Given the description of an element on the screen output the (x, y) to click on. 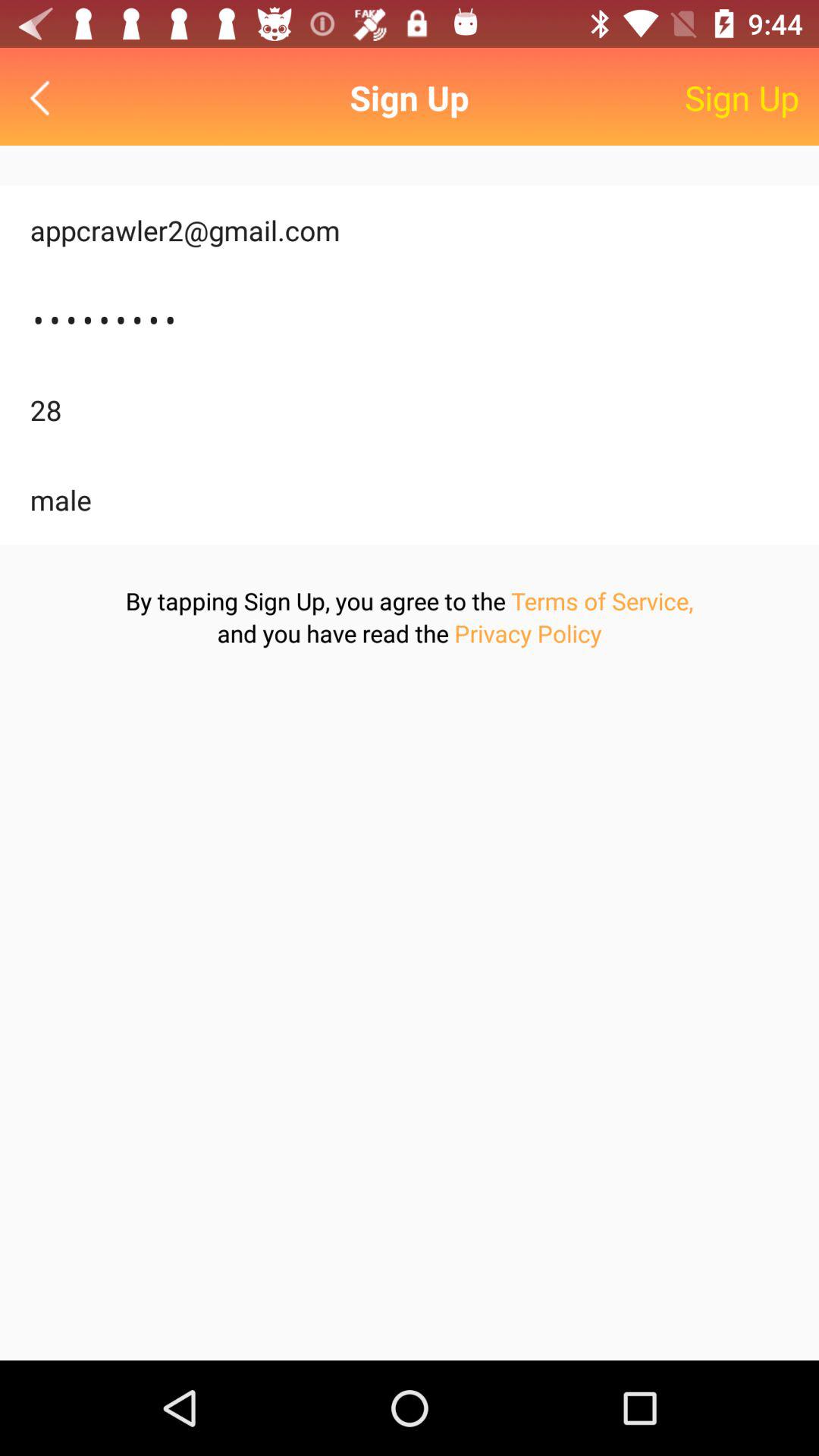
click male icon (409, 499)
